Given the description of an element on the screen output the (x, y) to click on. 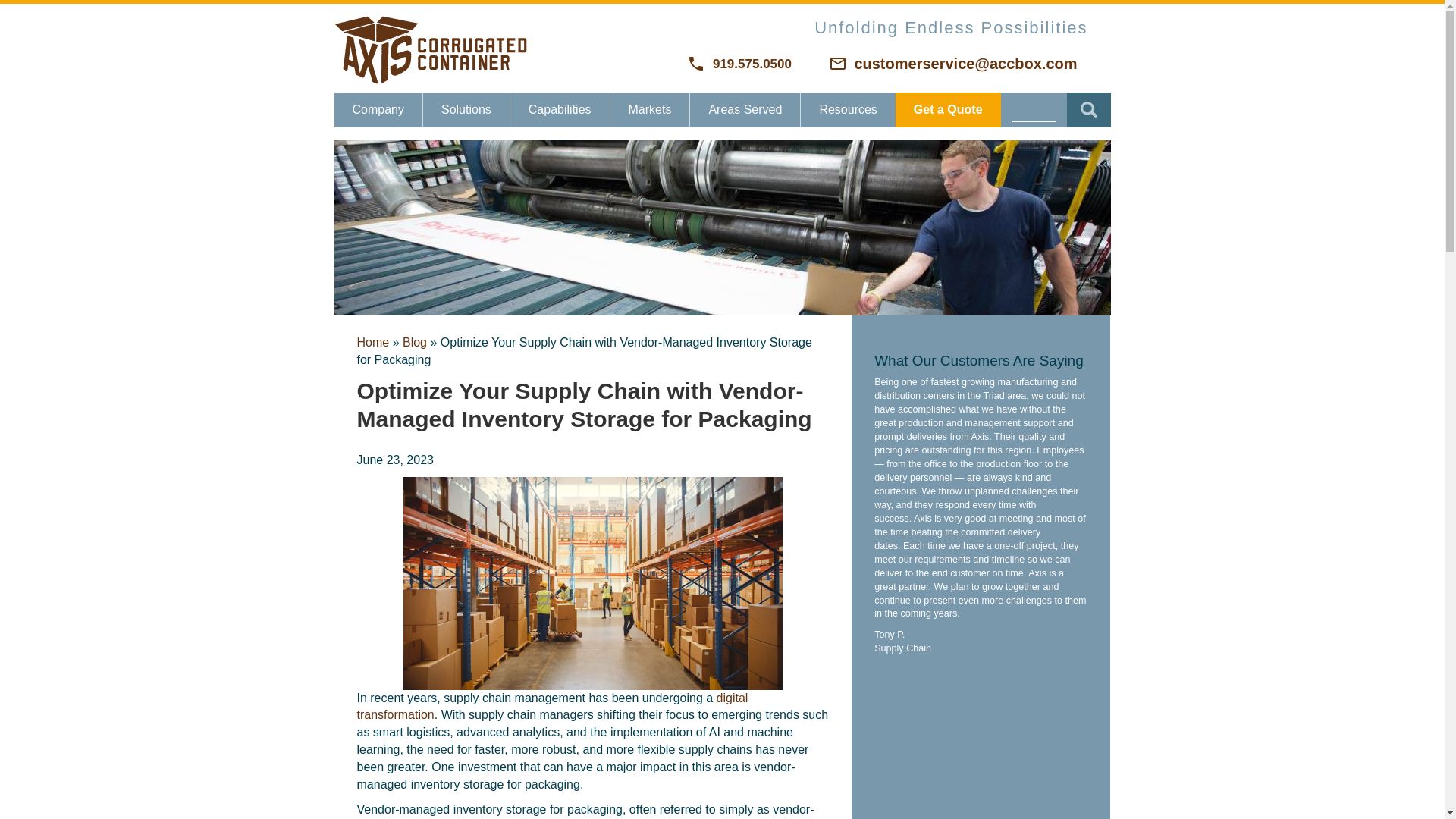
Search Website... (1033, 109)
Company (377, 109)
Get a Quote (948, 109)
Capabilities (560, 109)
Markets (650, 109)
919.575.0500 (740, 63)
Resources (847, 109)
Areas Served (744, 109)
Search (1087, 109)
Solutions (466, 109)
